Given the description of an element on the screen output the (x, y) to click on. 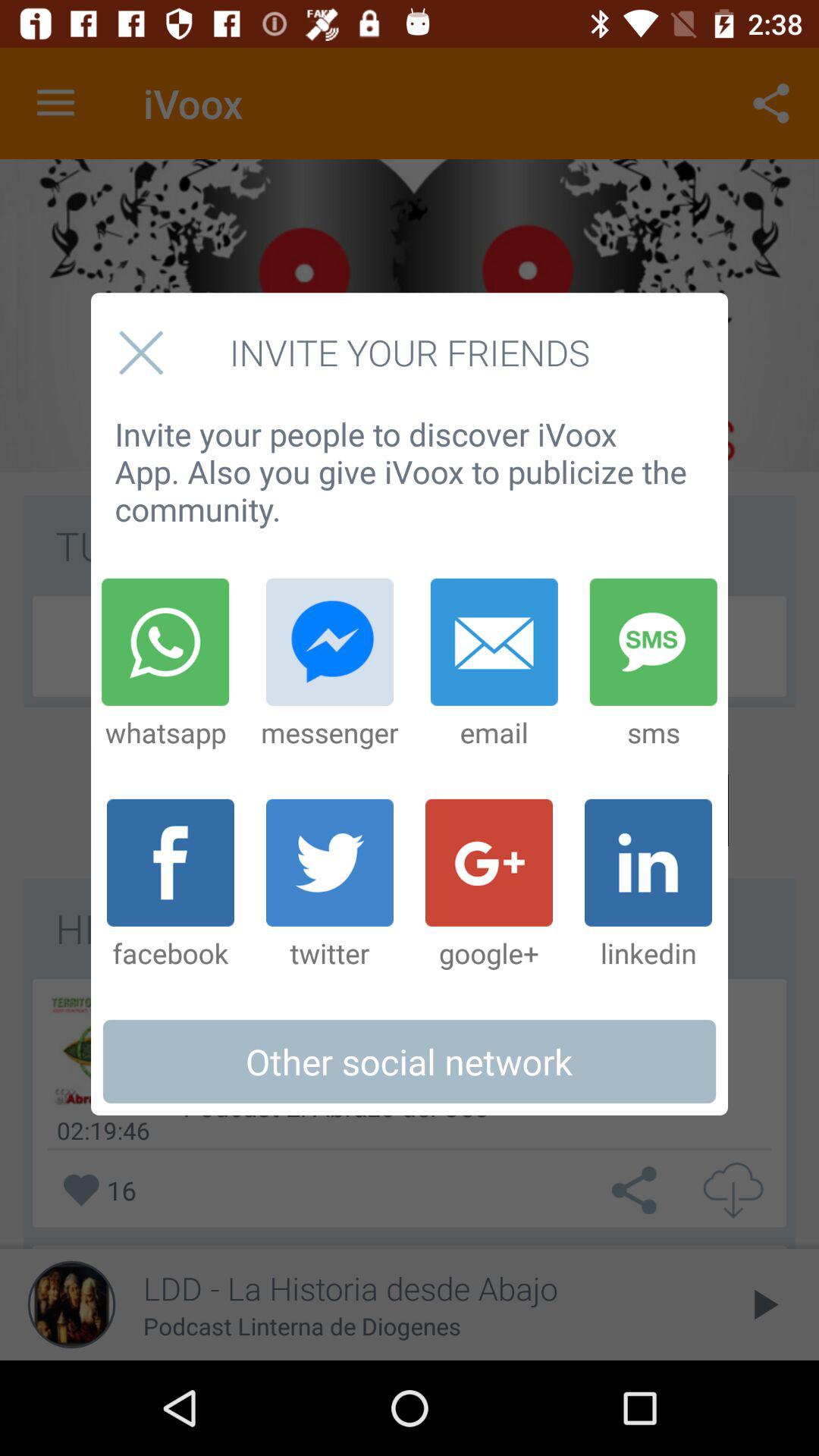
turn off the icon next to google+ (329, 885)
